Given the description of an element on the screen output the (x, y) to click on. 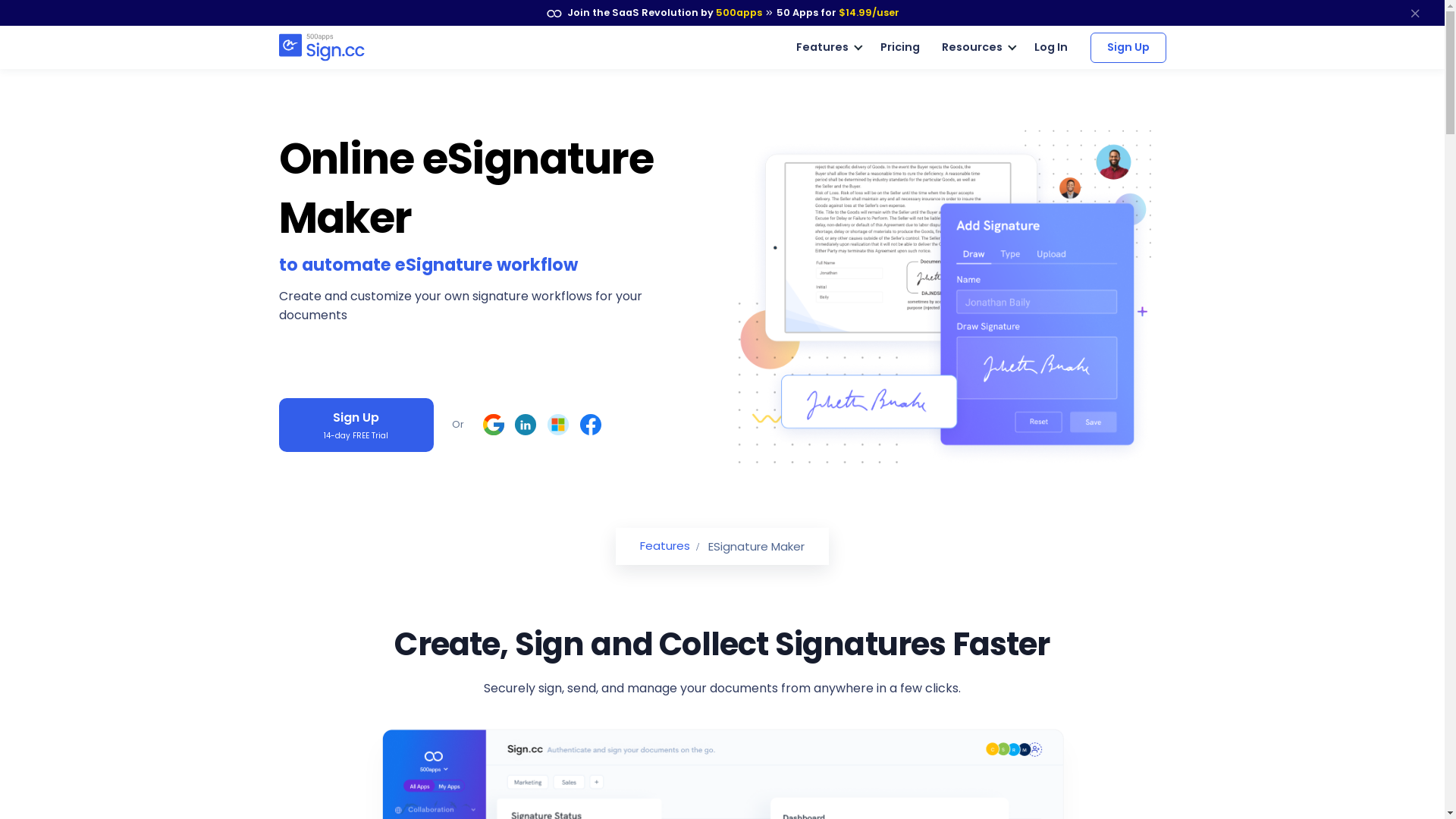
Sign Up Element type: text (1128, 46)
Features Element type: text (827, 47)
Features Element type: text (665, 545)
Pricing Element type: text (899, 47)
Sign Up
14-day FREE Trial Element type: text (356, 424)
Log In Element type: text (1050, 47)
Join the SaaS Revolution by 500apps 50 Apps for $14.99/user Element type: text (722, 12)
Electronic Signature Element type: hover (357, 47)
close Element type: hover (1414, 12)
Resources Element type: text (976, 47)
